Given the description of an element on the screen output the (x, y) to click on. 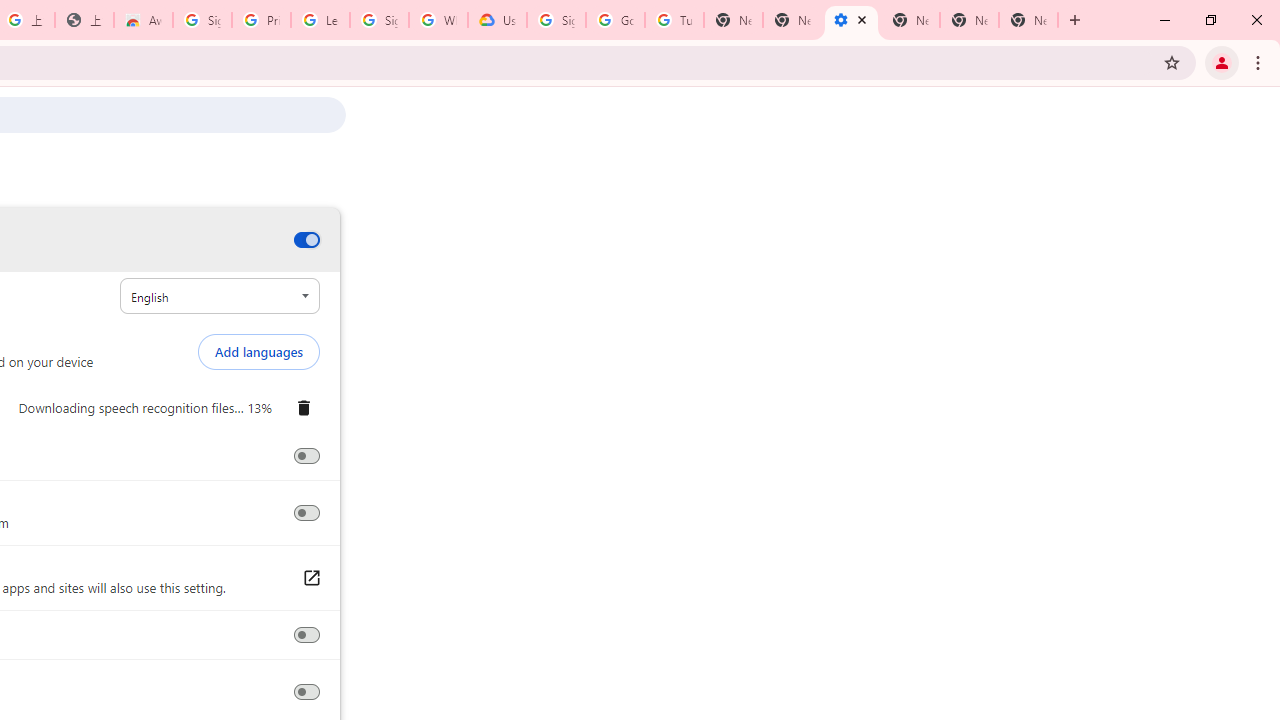
Awesome Screen Recorder & Screenshot - Chrome Web Store (142, 20)
Live Translate (306, 513)
Live Caption (306, 240)
Google Account Help (615, 20)
New Tab (909, 20)
Turn cookies on or off - Computer - Google Account Help (674, 20)
Hide profanity (306, 456)
Add languages (258, 352)
